Given the description of an element on the screen output the (x, y) to click on. 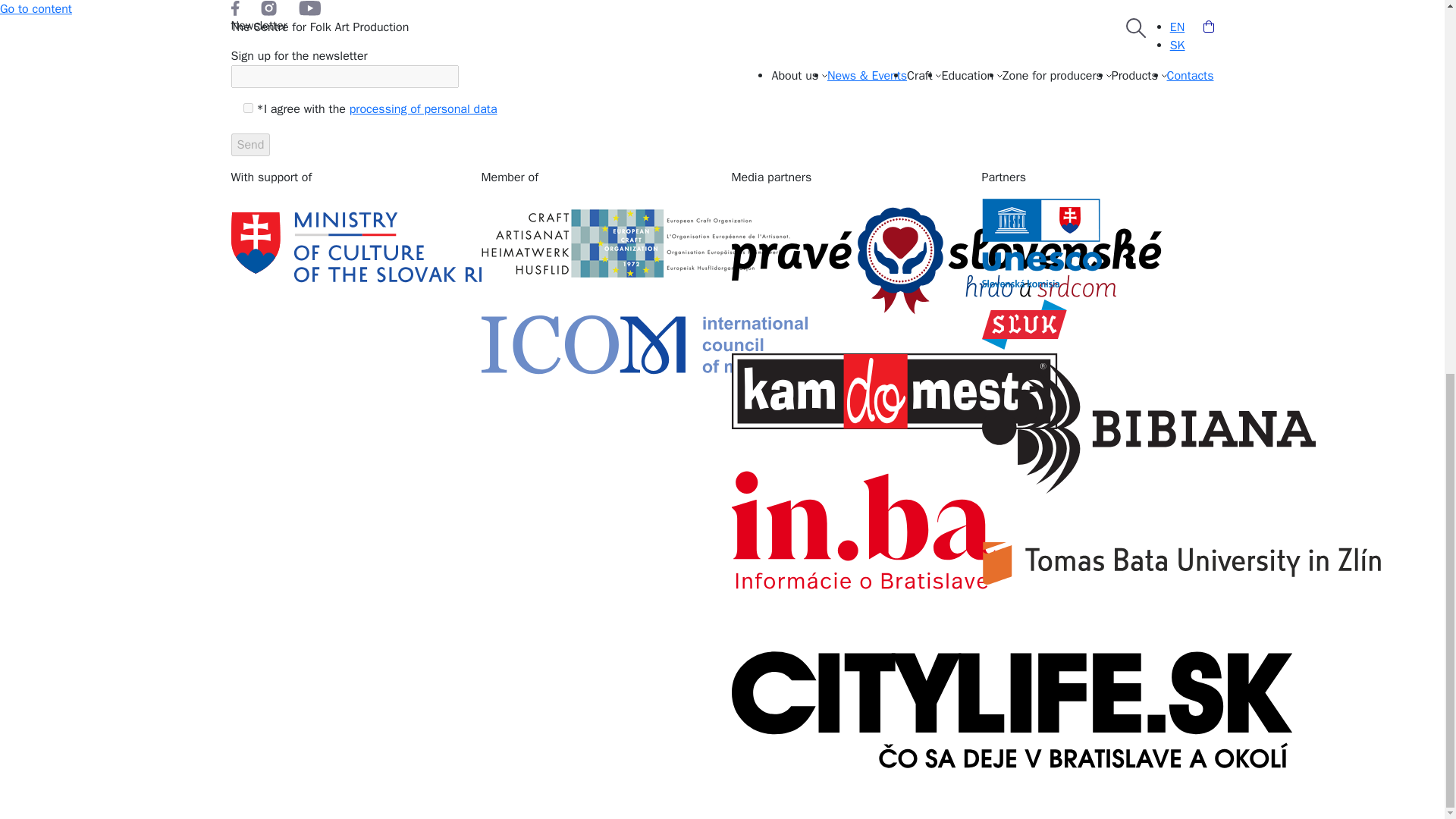
in.ba (846, 529)
Send (249, 144)
1 (247, 108)
praveslovenske.sk (846, 260)
Ministry of Culture of the Slovak Republic (346, 247)
kamdomesta.sk (846, 390)
